Given the description of an element on the screen output the (x, y) to click on. 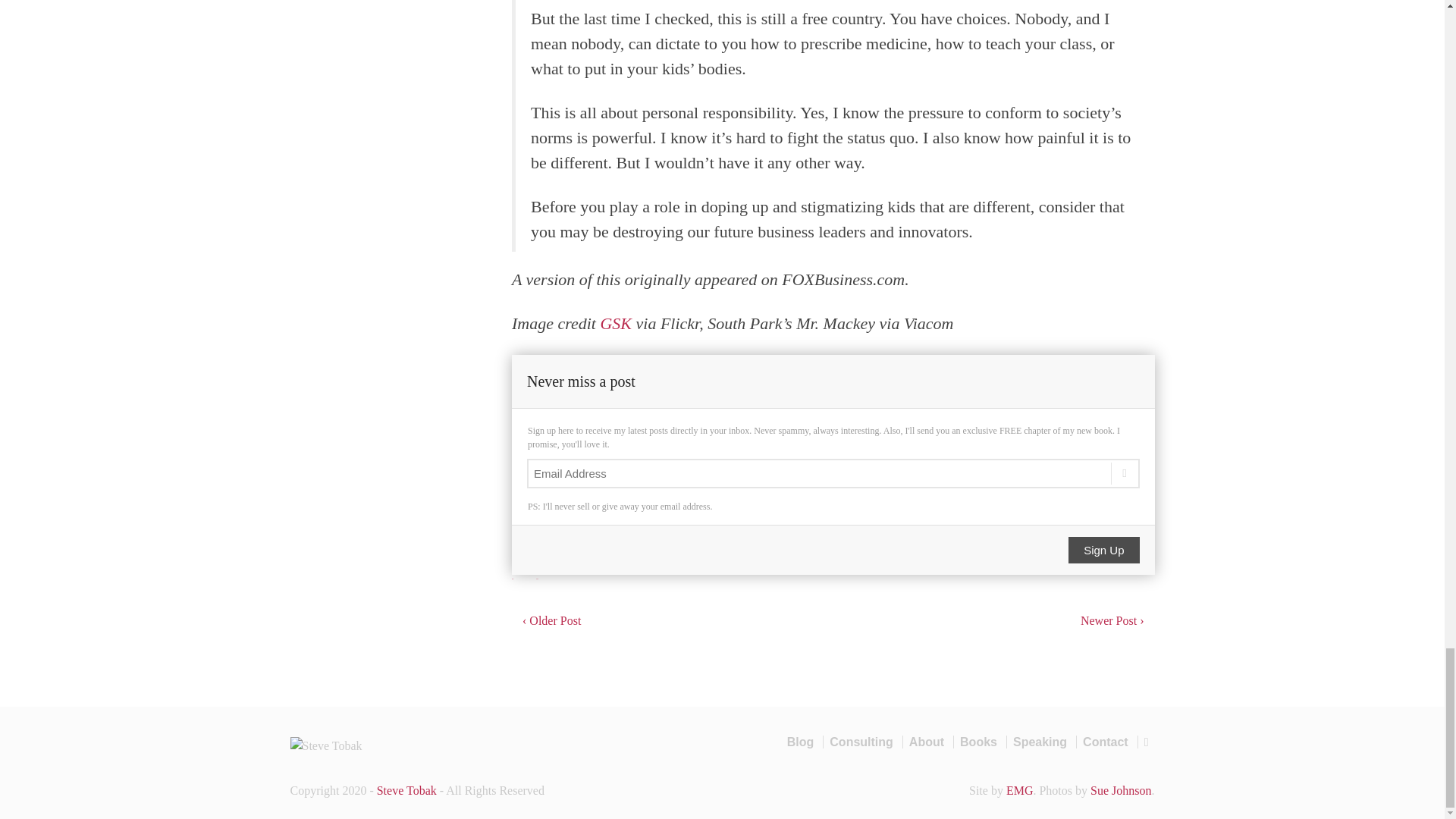
GSK (615, 322)
Sign Up (1103, 550)
